Given the description of an element on the screen output the (x, y) to click on. 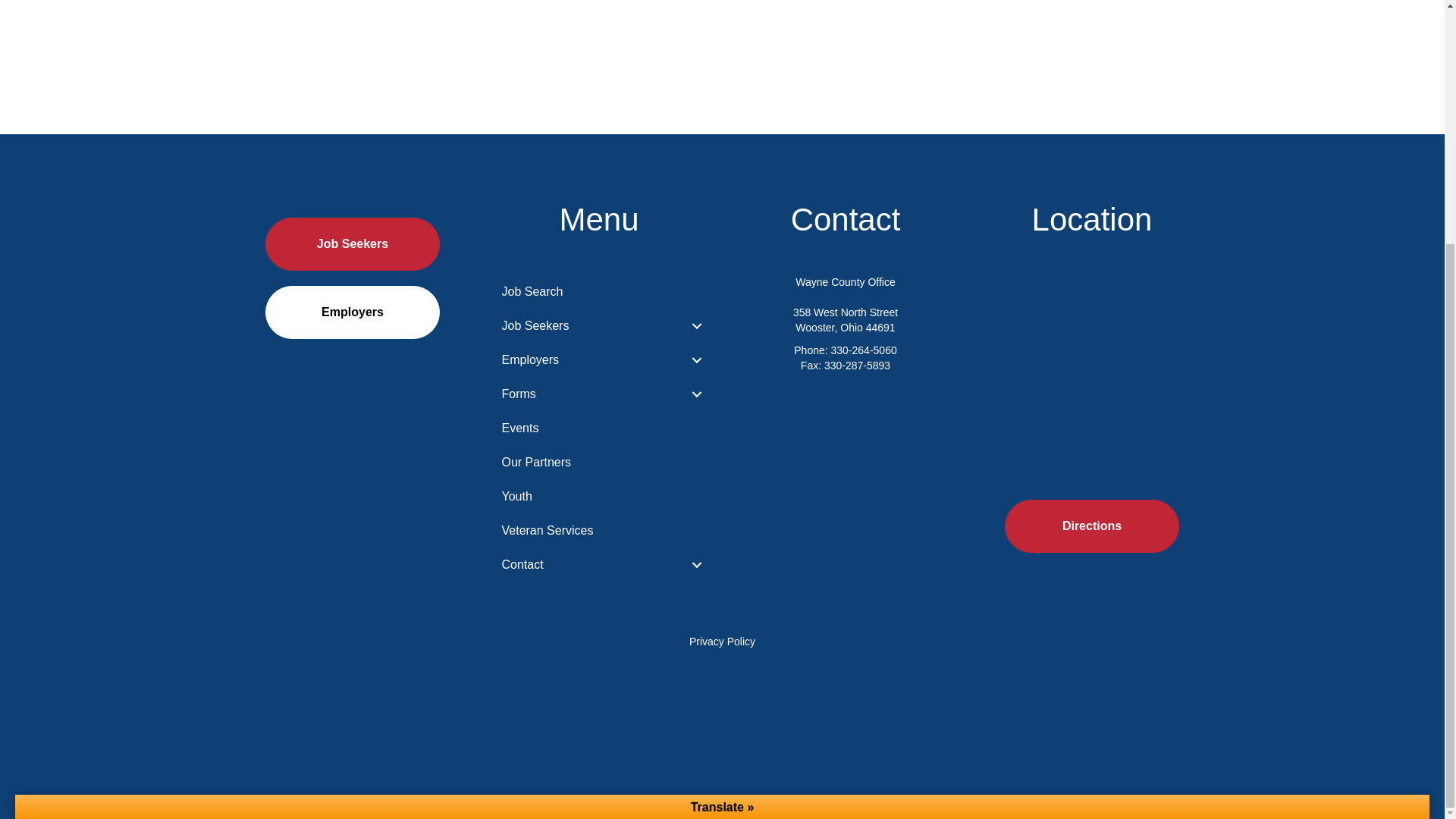
Click Here (1091, 525)
Click Here (351, 312)
Click Here (351, 244)
